Given the description of an element on the screen output the (x, y) to click on. 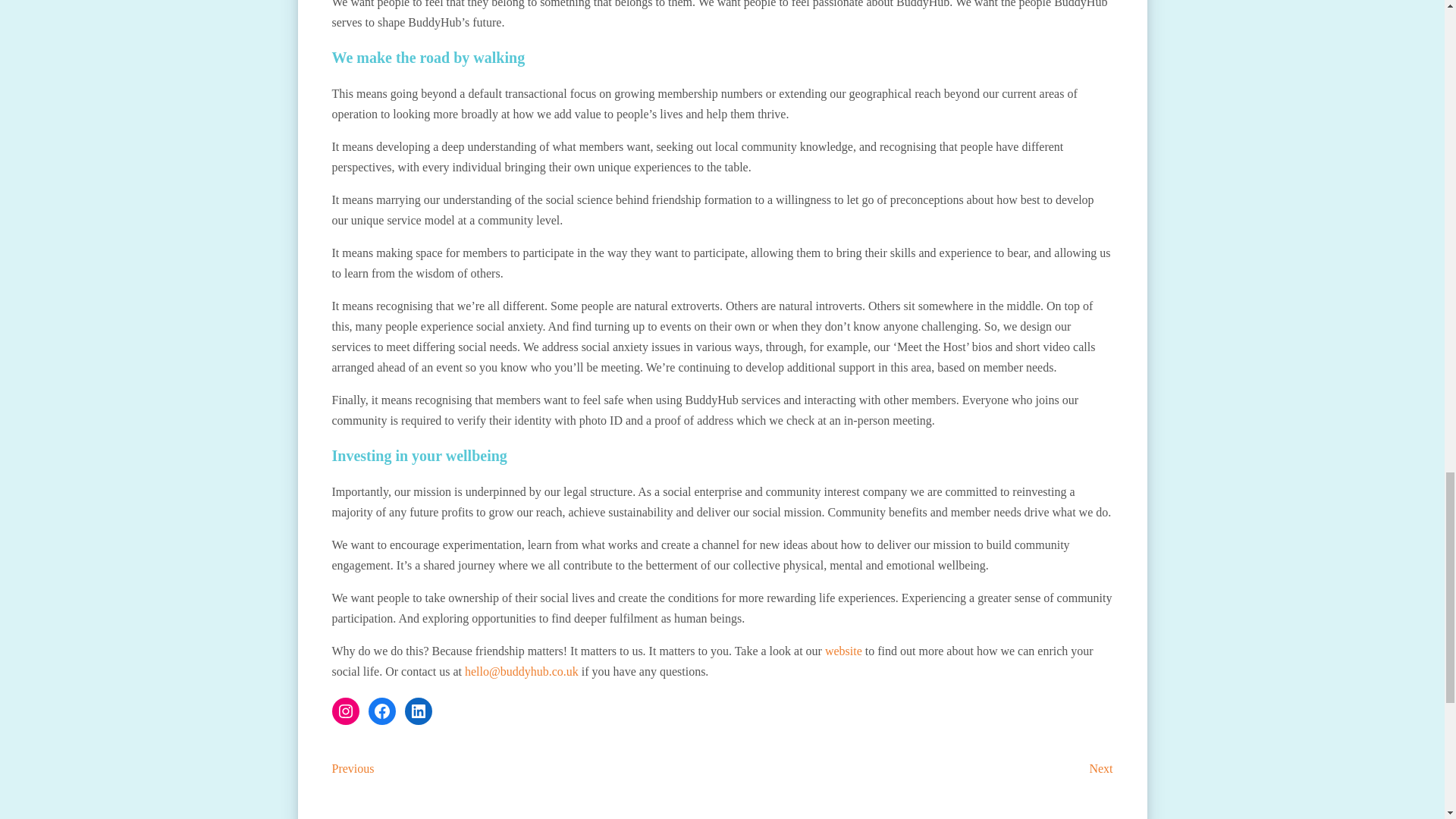
LinkedIn (418, 710)
Previous (352, 768)
website (843, 650)
Next (1100, 768)
Facebook (382, 710)
Instagram (345, 710)
